Given the description of an element on the screen output the (x, y) to click on. 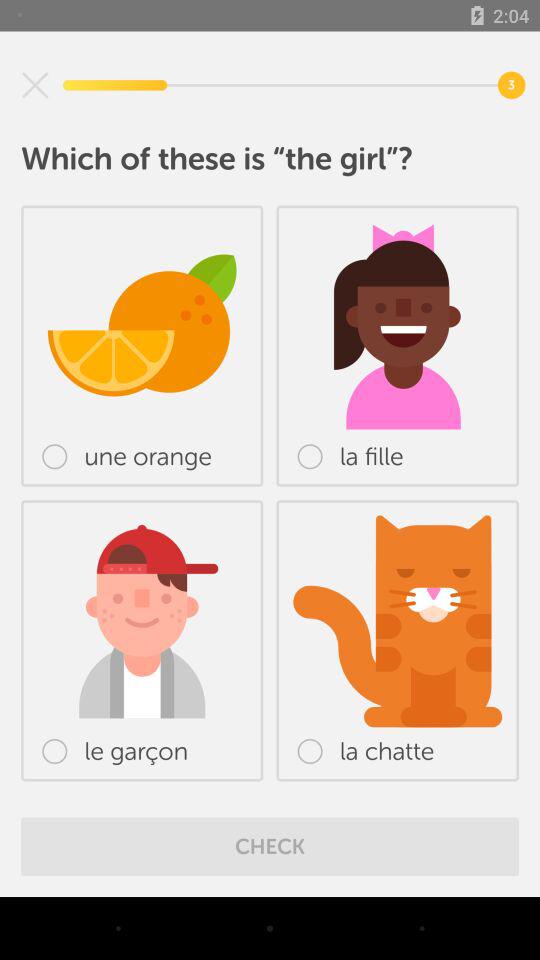
press check icon (270, 846)
